Given the description of an element on the screen output the (x, y) to click on. 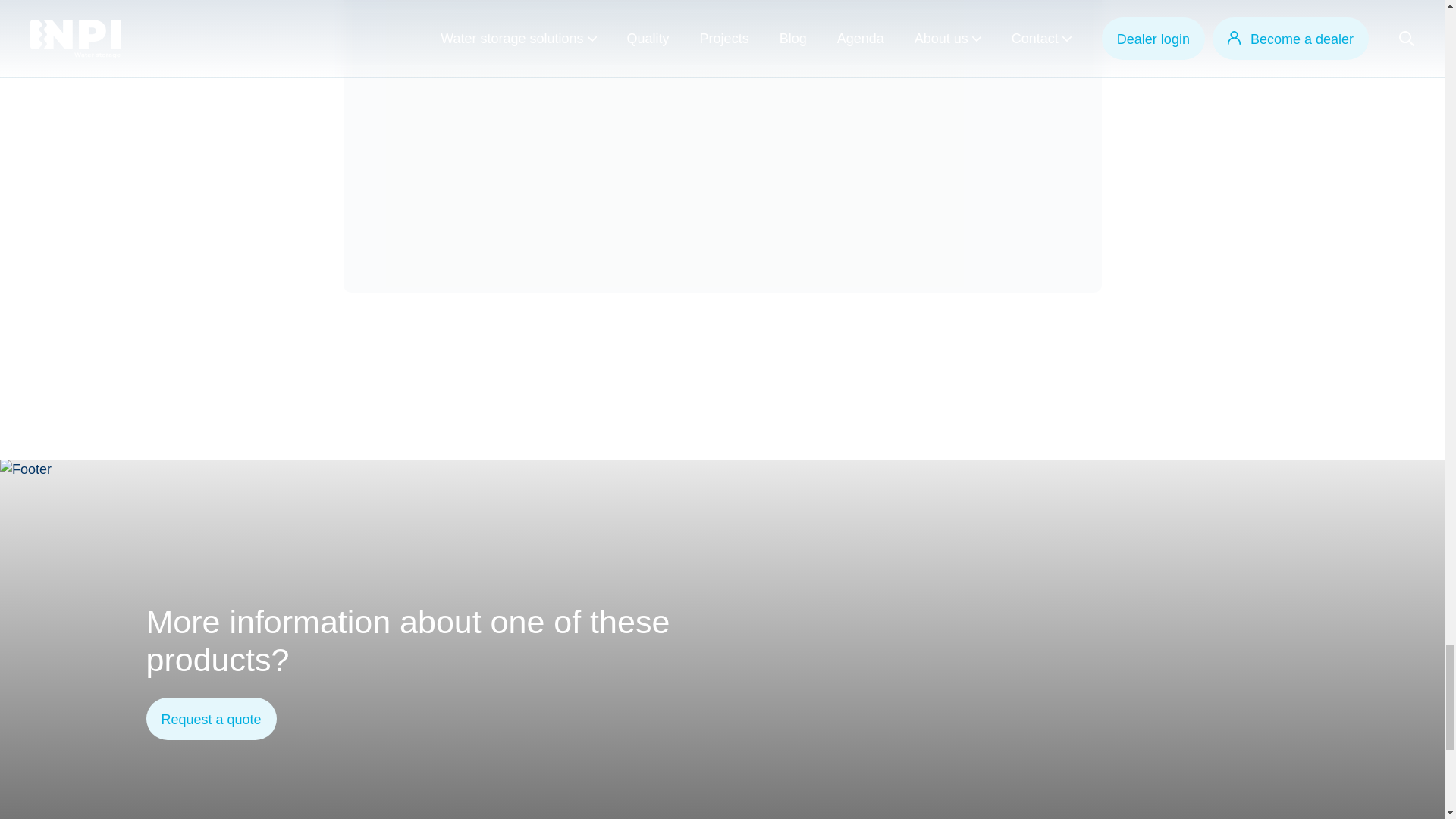
Request a quote (210, 718)
